Given the description of an element on the screen output the (x, y) to click on. 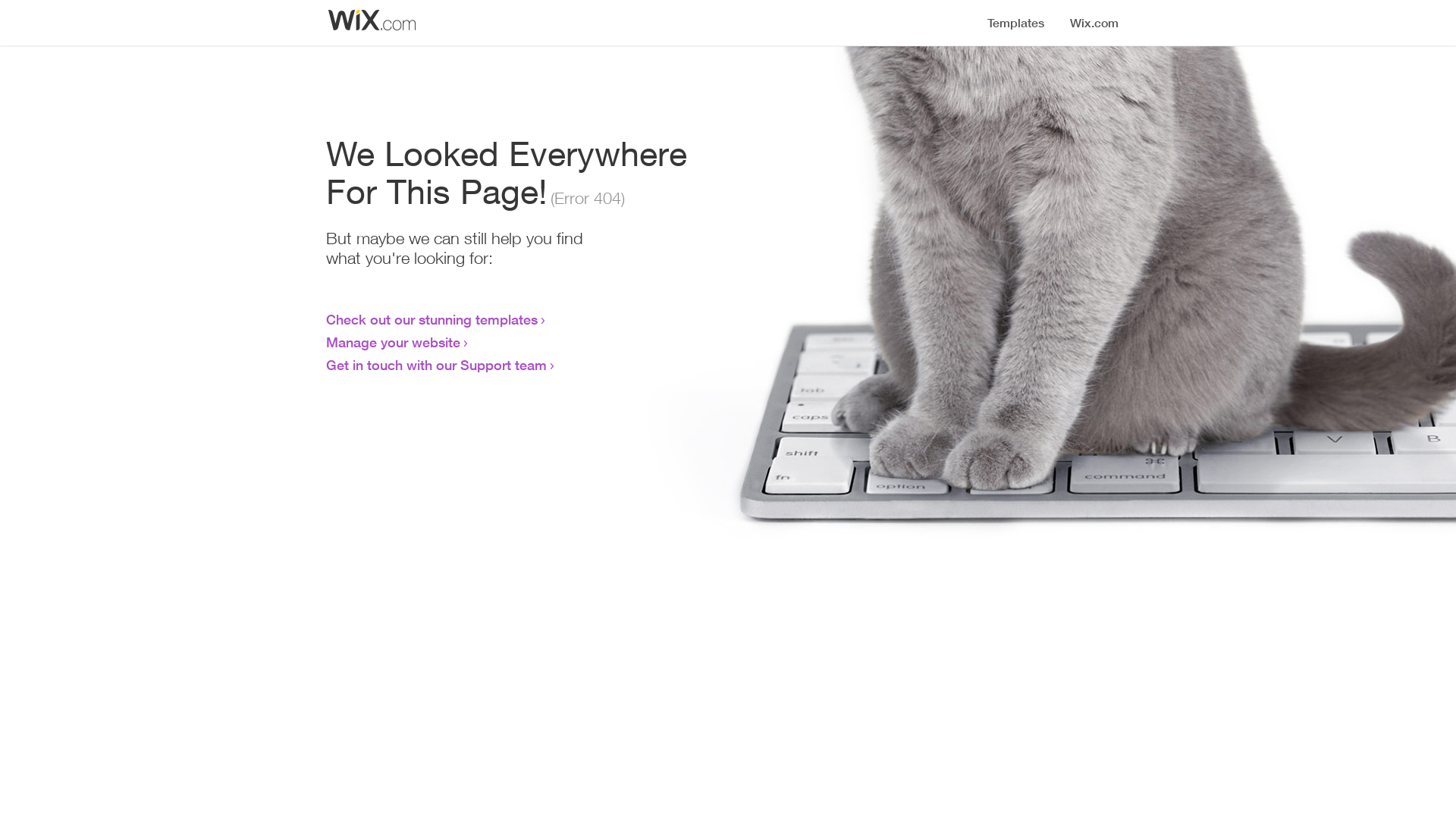
Check out our stunning templates Element type: text (431, 318)
Get in touch with our Support team Element type: text (436, 364)
Manage your website Element type: text (393, 341)
